Given the description of an element on the screen output the (x, y) to click on. 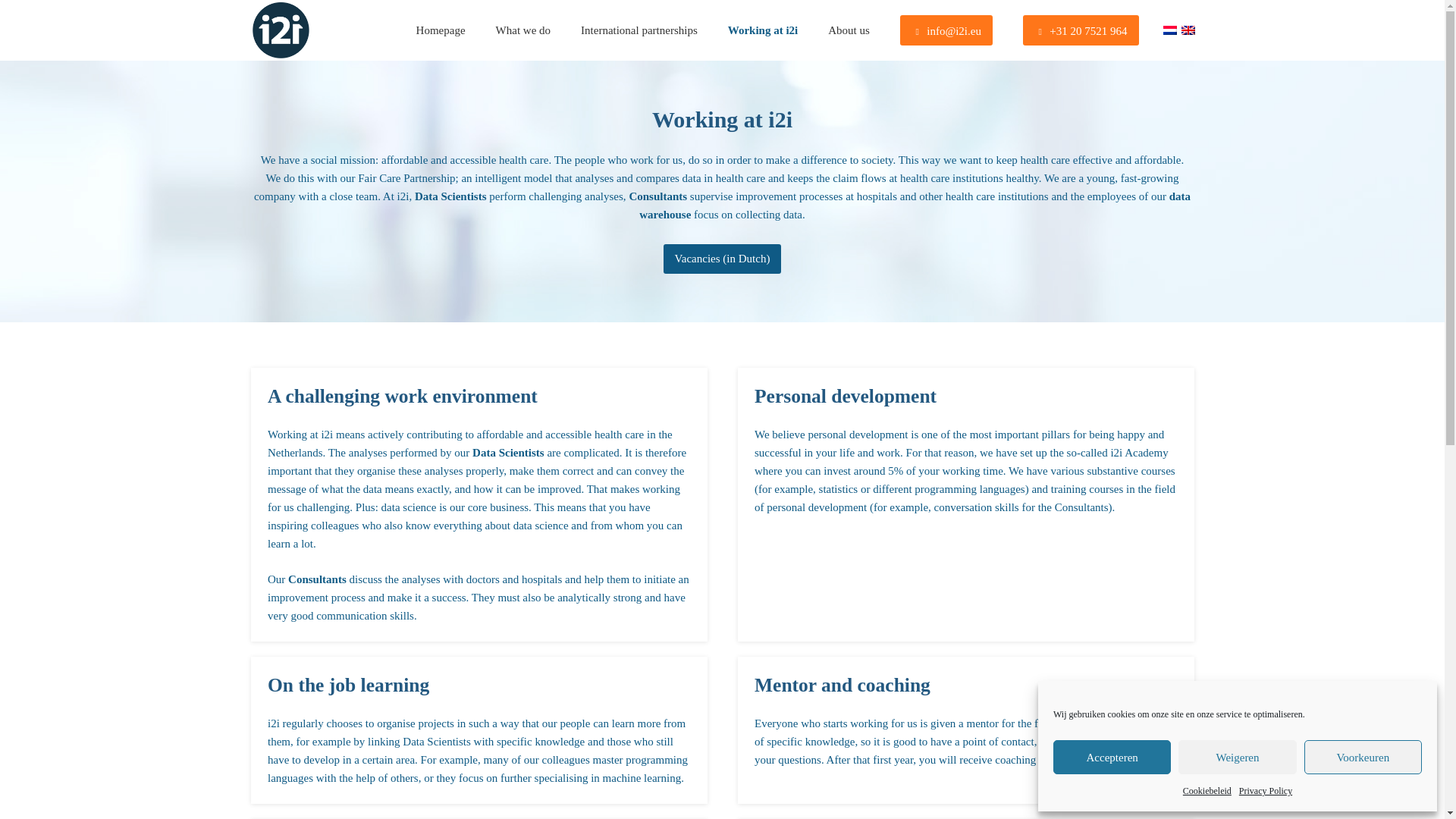
Homepage (440, 30)
International partnerships (639, 30)
Accepteren (1111, 756)
What we do (523, 30)
Cookiebeleid (1206, 791)
Working at i2i (763, 30)
About us (848, 30)
Privacy Policy (1265, 791)
Weigeren (1236, 756)
Voorkeuren (1363, 756)
